Given the description of an element on the screen output the (x, y) to click on. 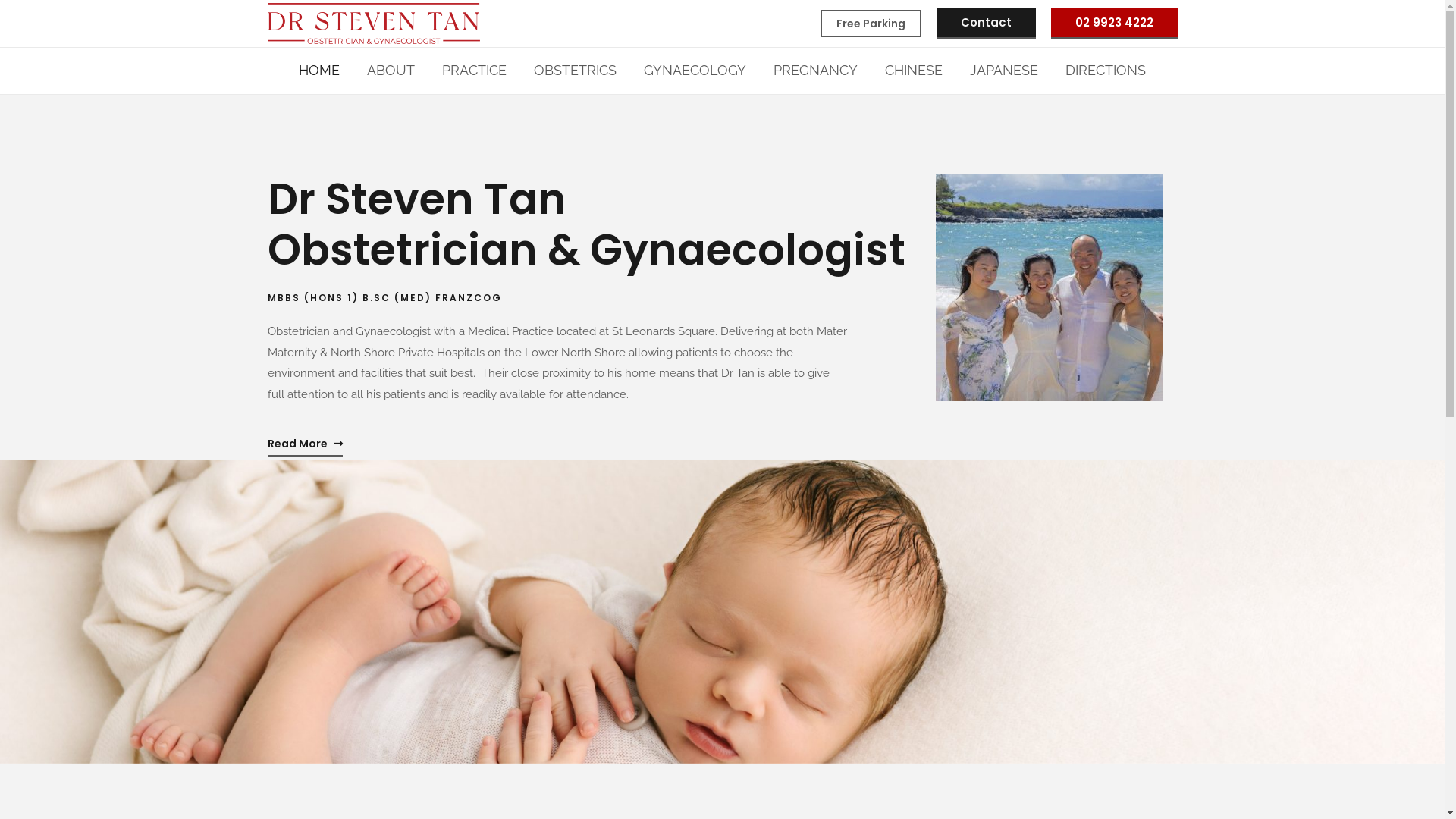
Free Parking Element type: text (870, 23)
HOME Element type: text (319, 70)
PREGNANCY Element type: text (815, 70)
Contact Element type: text (985, 22)
ABOUT Element type: text (390, 70)
Read More Element type: text (304, 444)
DIRECTIONS Element type: text (1105, 70)
02 9923 4222 Element type: text (1114, 22)
OBSTETRICS Element type: text (575, 70)
GYNAECOLOGY Element type: text (694, 70)
PRACTICE Element type: text (474, 70)
JAPANESE Element type: text (1003, 70)
CHINESE Element type: text (913, 70)
